Given the description of an element on the screen output the (x, y) to click on. 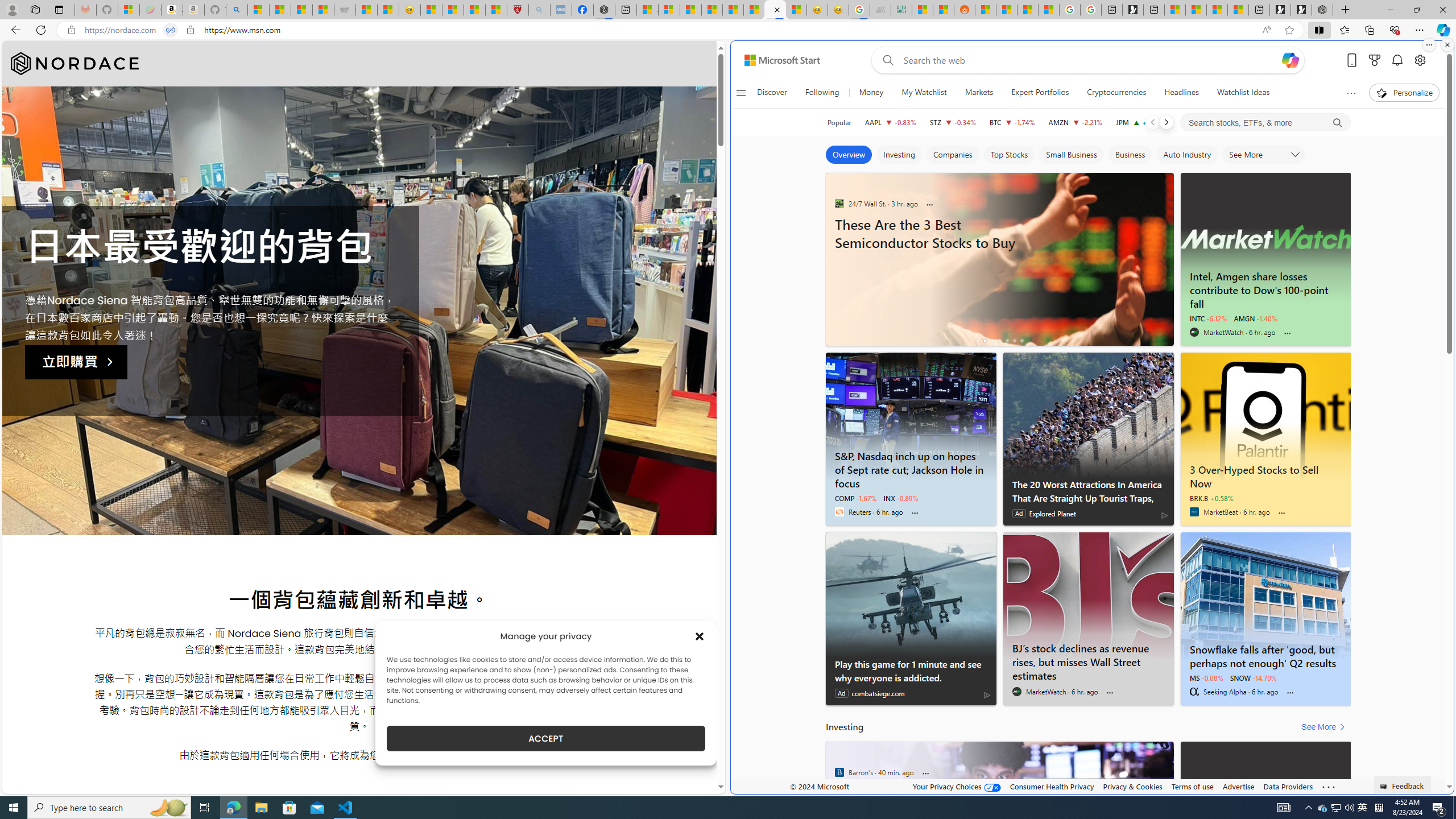
Stocks - MSN (323, 9)
Cryptocurrencies (1116, 92)
AMZN AMAZON.COM, INC. decrease 176.13 -3.98 -2.21% (1075, 122)
Class: oneFooter_seeMore-DS-EntryPoint1-1 (1328, 786)
Cryptocurrencies (1116, 92)
Search stocks, ETFs, & more (1265, 122)
Watchlist Ideas (1243, 92)
Markets (979, 92)
Overview (848, 154)
Enter your search term (1090, 59)
Recipes - MSN (431, 9)
See More (1325, 726)
Terms of use (1192, 786)
